Given the description of an element on the screen output the (x, y) to click on. 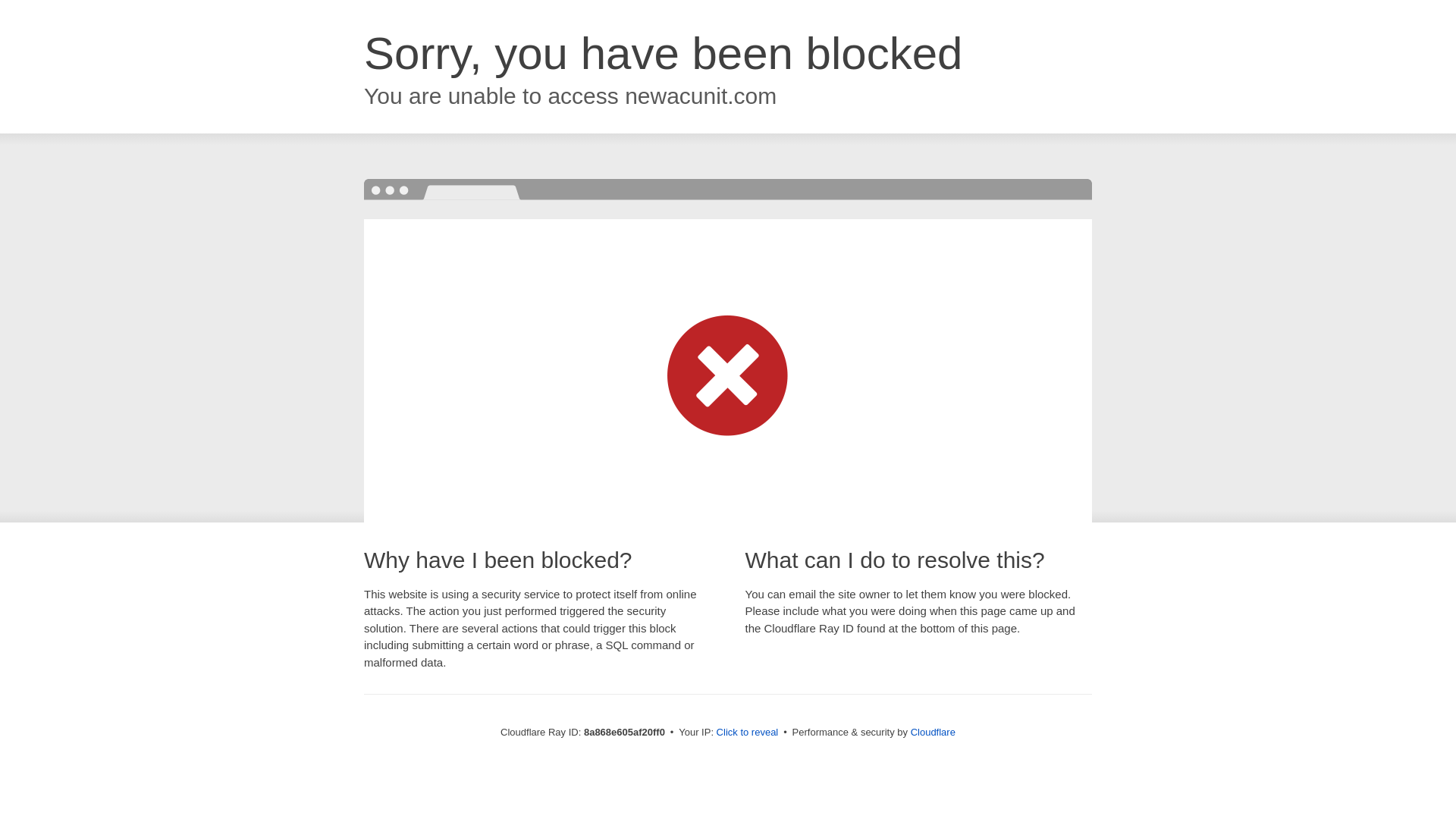
Cloudflare (933, 731)
Click to reveal (747, 732)
